Given the description of an element on the screen output the (x, y) to click on. 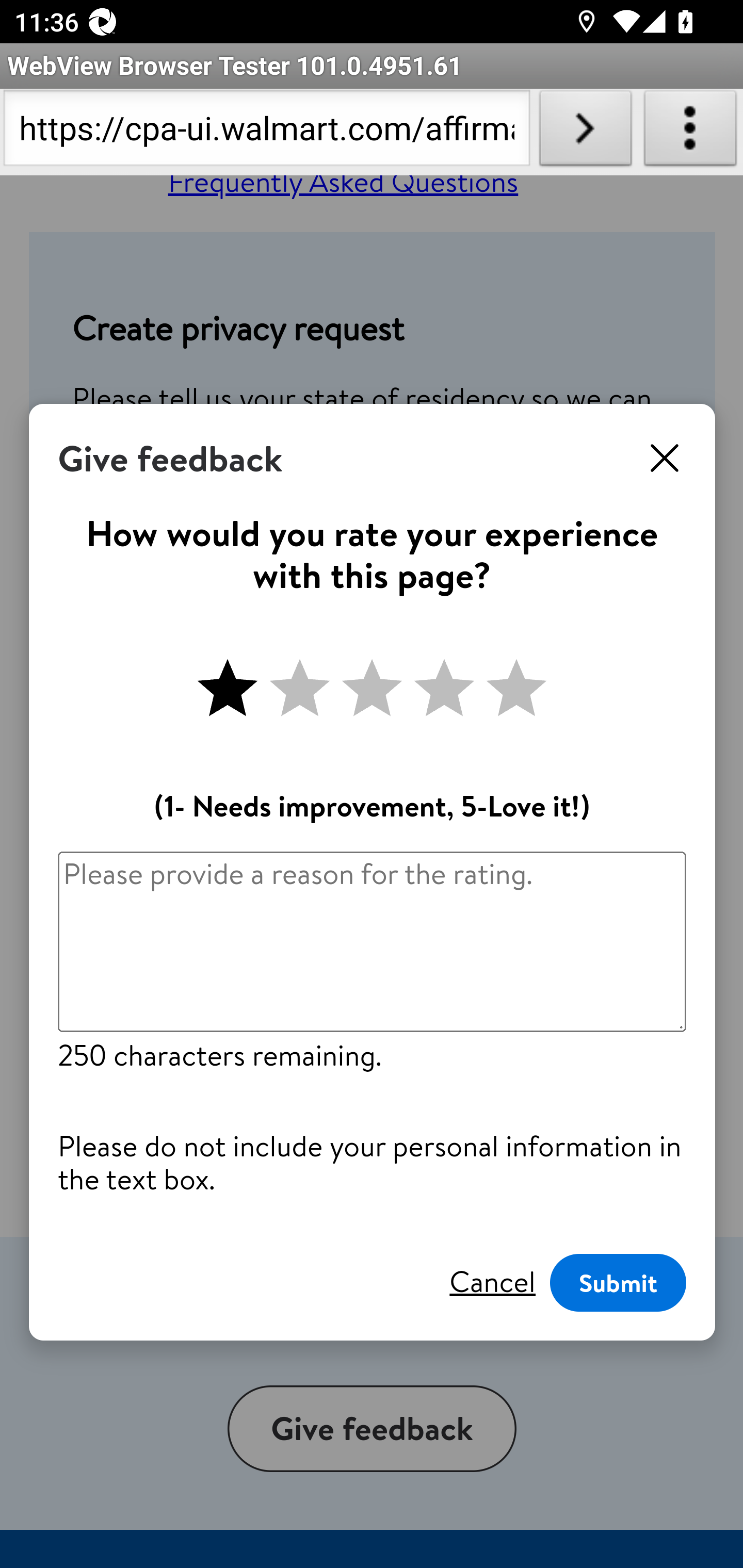
Load URL (585, 132)
About WebView (690, 132)
Close dialog (665, 459)
Submit (618, 1282)
Cancel (492, 1282)
